Given the description of an element on the screen output the (x, y) to click on. 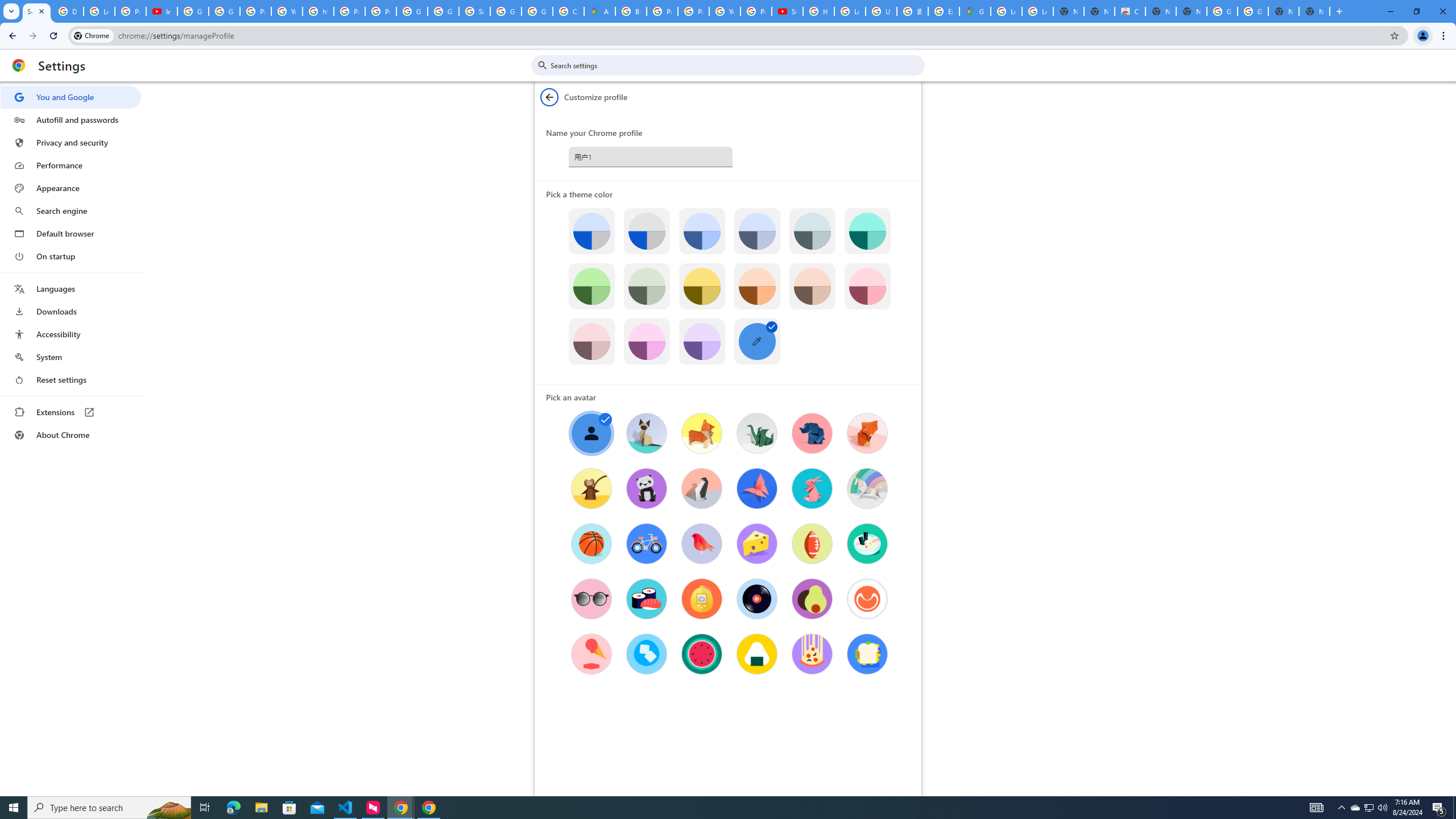
Languages (70, 288)
Autofill and passwords (70, 119)
Extensions (70, 412)
Appearance (70, 187)
Learn how to find your photos - Google Photos Help (98, 11)
Privacy Help Center - Policies Help (693, 11)
Privacy and security (70, 142)
Settings - Customize profile (36, 11)
On startup (70, 255)
YouTube (724, 11)
Subscriptions - YouTube (787, 11)
